Given the description of an element on the screen output the (x, y) to click on. 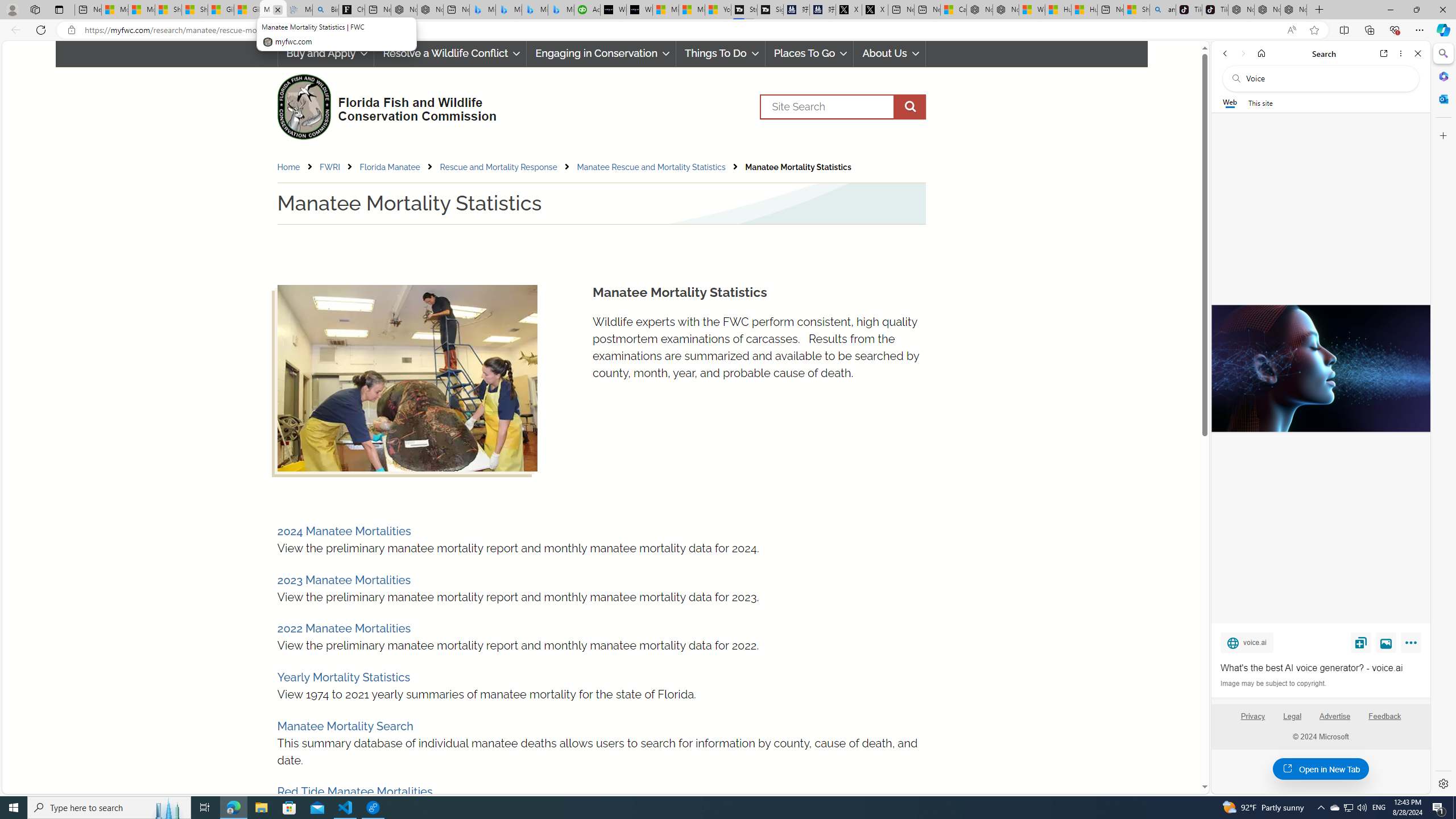
Address and search bar (680, 29)
Nordace - Siena Pro 15 Essential Set (1293, 9)
Things To Do (719, 53)
Buy and Apply (325, 53)
Accounting Software for Accountants, CPAs and Bookkeepers (587, 9)
Huge shark washes ashore at New York City beach | Watch (1083, 9)
About Us (889, 53)
Resolve a Wildlife Conflict (450, 53)
Wildlife - MSN (1031, 9)
Search (1442, 53)
TikTok (1214, 9)
